Given the description of an element on the screen output the (x, y) to click on. 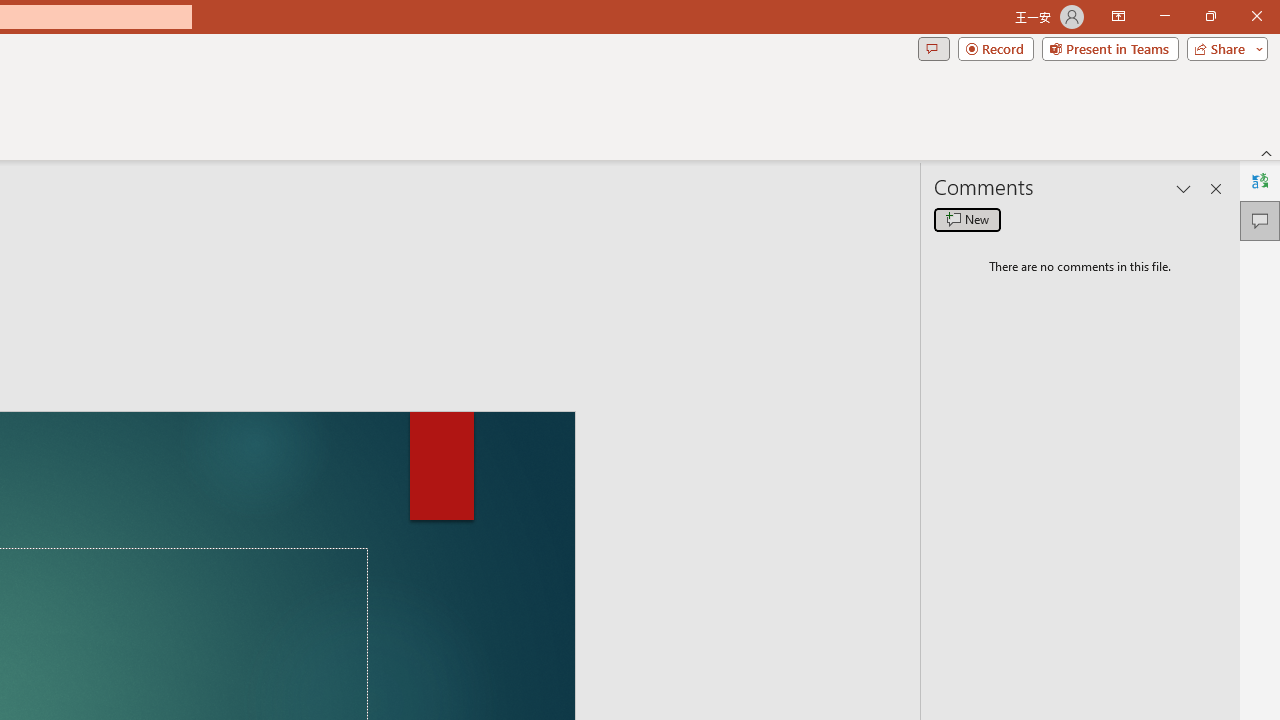
New comment (967, 219)
